Given the description of an element on the screen output the (x, y) to click on. 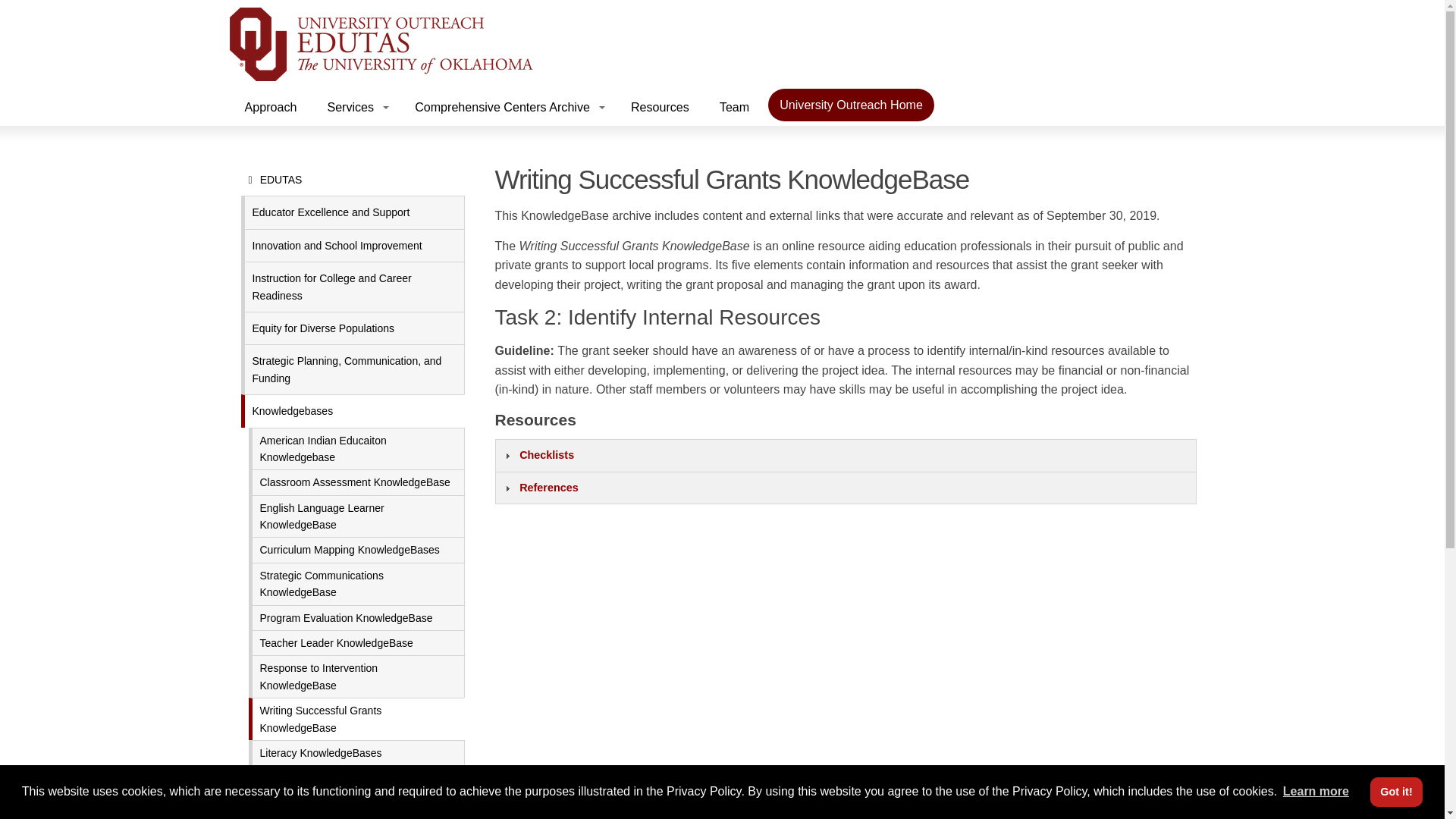
University Outreach Home (851, 104)
Strategic Planning, Communication, and Funding (352, 368)
Got it! (1396, 791)
Instruction for College and Career Readiness (352, 286)
American Indian Educaiton Knowledgebase (356, 448)
Educator Excellence and Support (352, 211)
Services (354, 107)
EDUTAS (352, 179)
Innovation and School Improvement (352, 245)
